Given the description of an element on the screen output the (x, y) to click on. 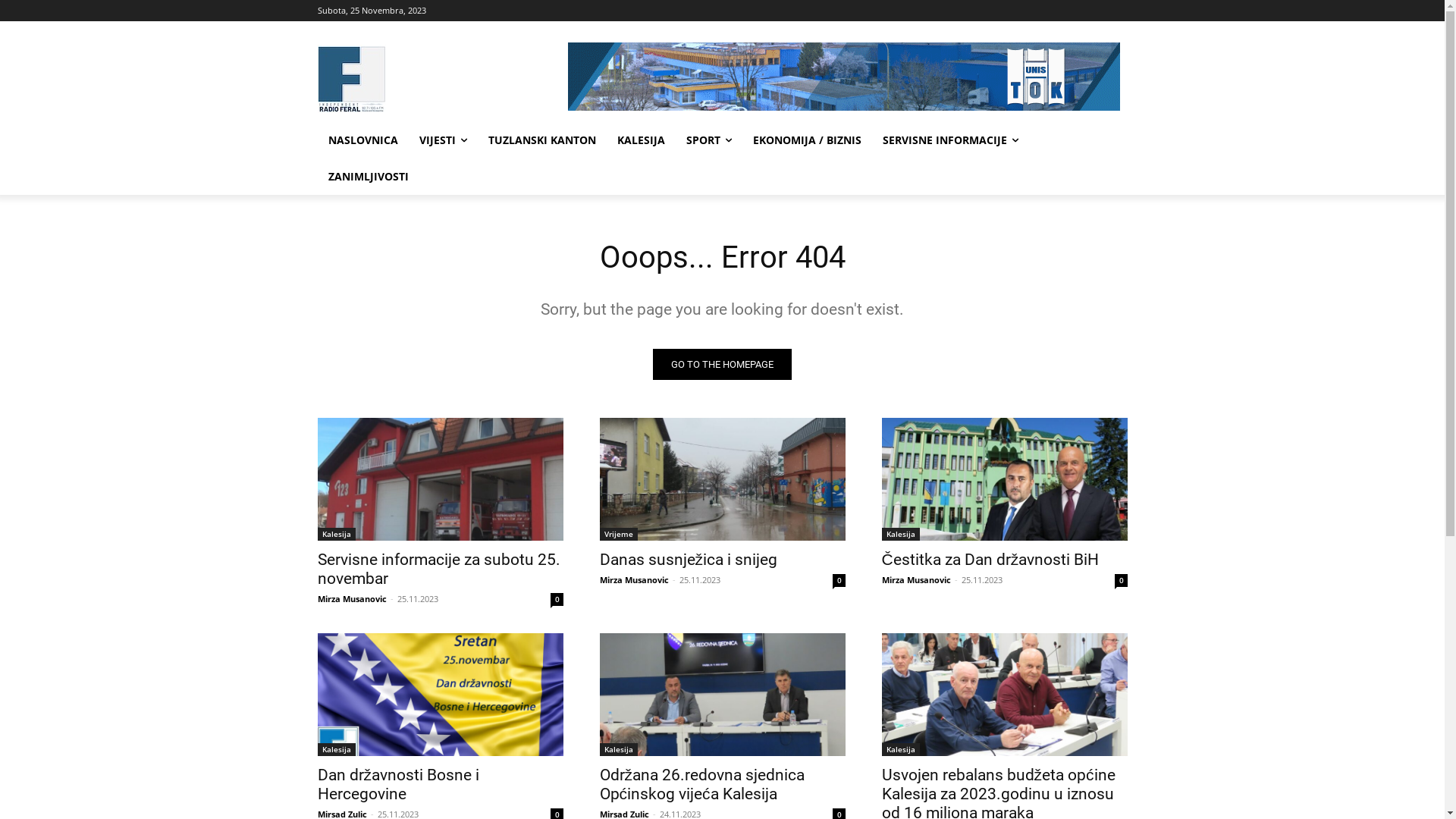
Mirza Musanovic Element type: text (915, 579)
Kalesija Element type: text (618, 749)
TUZLANSKI KANTON Element type: text (541, 140)
Kalesija Element type: text (335, 749)
0 Element type: text (1120, 580)
Servisne informacije za subotu 25. novembar Element type: text (437, 568)
Servisne informacije za subotu 25. novembar Element type: hover (439, 478)
Kalesija Element type: text (900, 533)
SERVISNE INFORMACIJE Element type: text (950, 140)
NASLOVNICA Element type: text (361, 140)
GO TO THE HOMEPAGE Element type: text (721, 363)
ZANIMLJIVOSTI Element type: text (367, 176)
Kalesija Element type: text (900, 749)
VIJESTI Element type: text (441, 140)
Kalesija Element type: text (335, 533)
KALESIJA Element type: text (640, 140)
SPORT Element type: text (707, 140)
EKONOMIJA / BIZNIS Element type: text (806, 140)
Vrijeme Element type: text (618, 533)
0 Element type: text (556, 599)
0 Element type: text (838, 580)
Mirza Musanovic Element type: text (633, 579)
Mirza Musanovic Element type: text (350, 598)
